Given the description of an element on the screen output the (x, y) to click on. 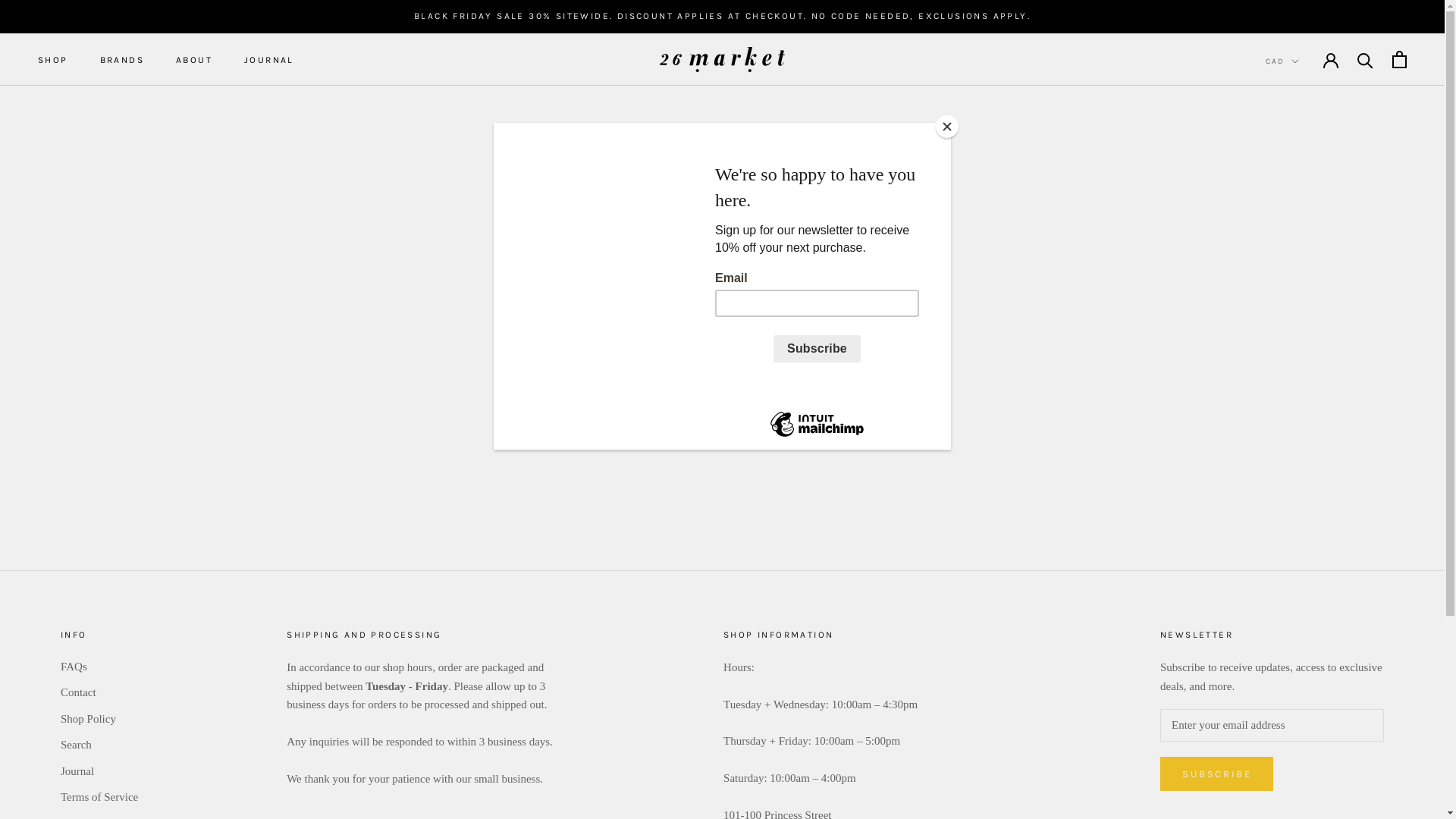
Shop Policy Element type: text (99, 719)
Search Element type: text (99, 744)
Contact Element type: text (99, 692)
SHOP
SHOP Element type: text (52, 59)
BACK TO HOMEPAGE Element type: text (722, 363)
JOURNAL
JOURNAL Element type: text (269, 59)
Terms of Service Element type: text (99, 797)
Journal Element type: text (99, 771)
ABOUT
ABOUT Element type: text (193, 59)
SUBSCRIBE Element type: text (1216, 773)
BRANDS
BRANDS Element type: text (122, 59)
FAQs Element type: text (99, 666)
